Given the description of an element on the screen output the (x, y) to click on. 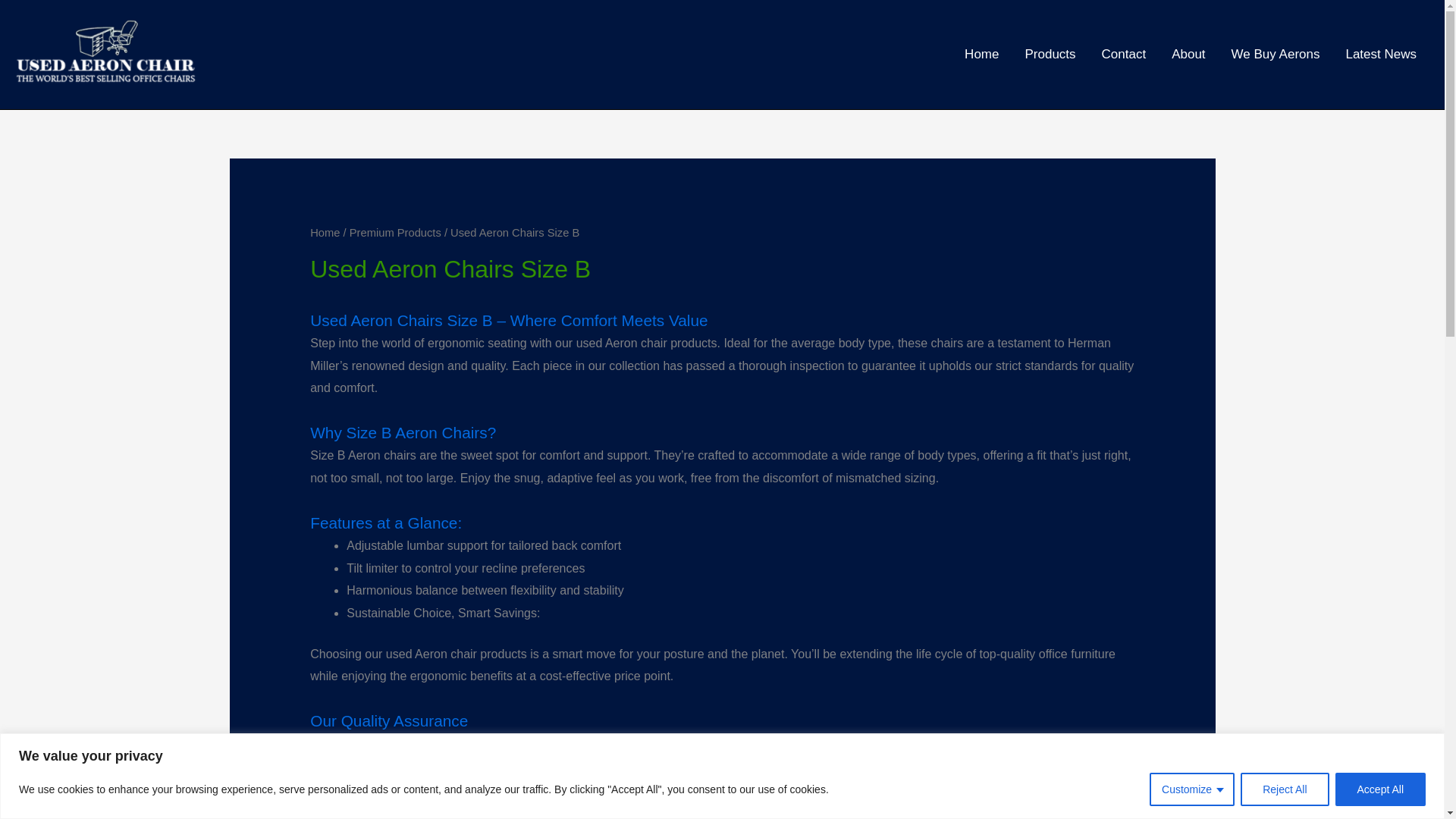
Customize (1192, 788)
Accept All (1380, 788)
Reject All (1283, 788)
Home (324, 232)
Premium Products (395, 232)
Latest News (1380, 54)
We Buy Aerons (1275, 54)
Products (1049, 54)
